Given the description of an element on the screen output the (x, y) to click on. 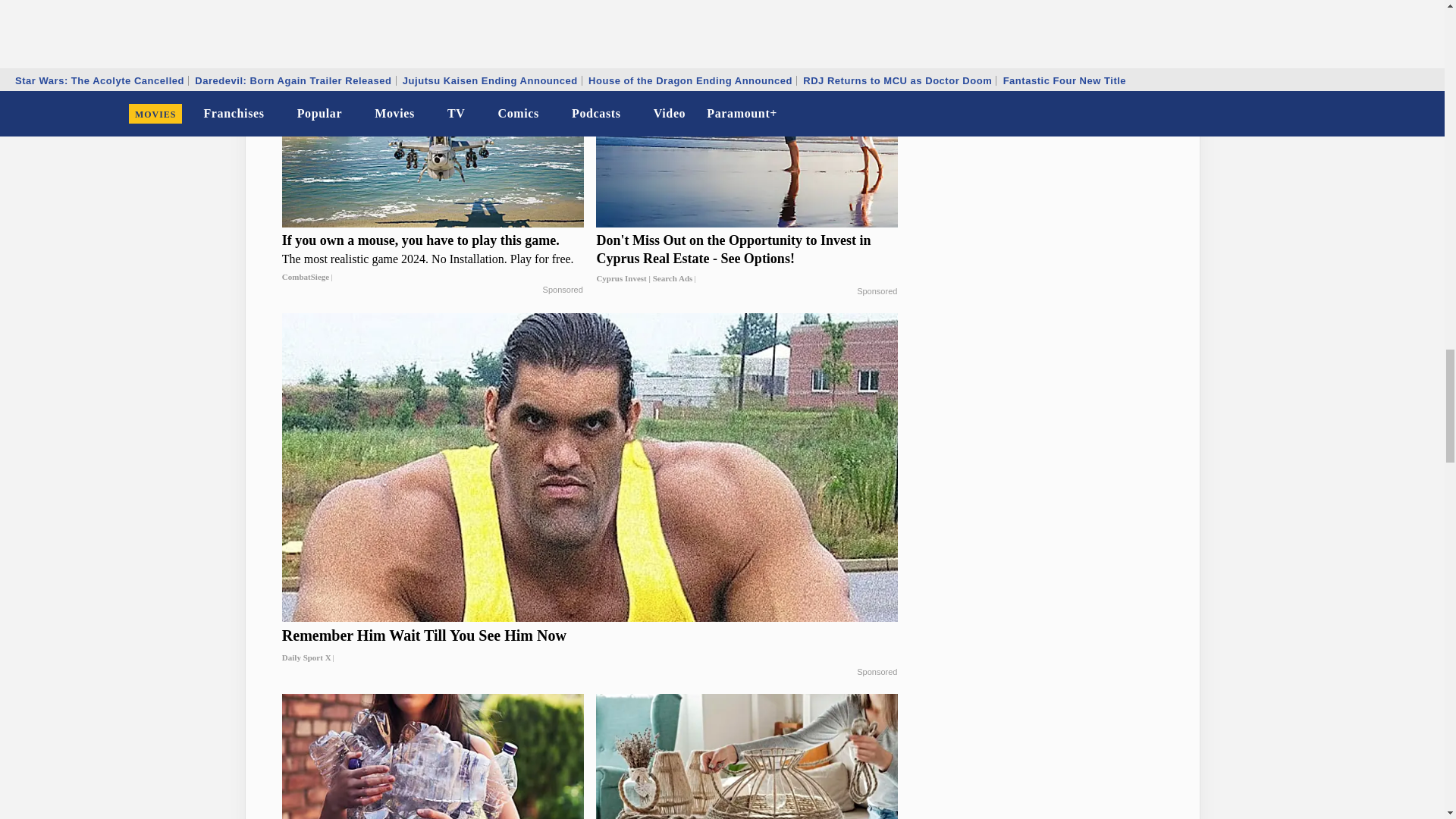
If you own a mouse, you have to play this game. (432, 257)
